Given the description of an element on the screen output the (x, y) to click on. 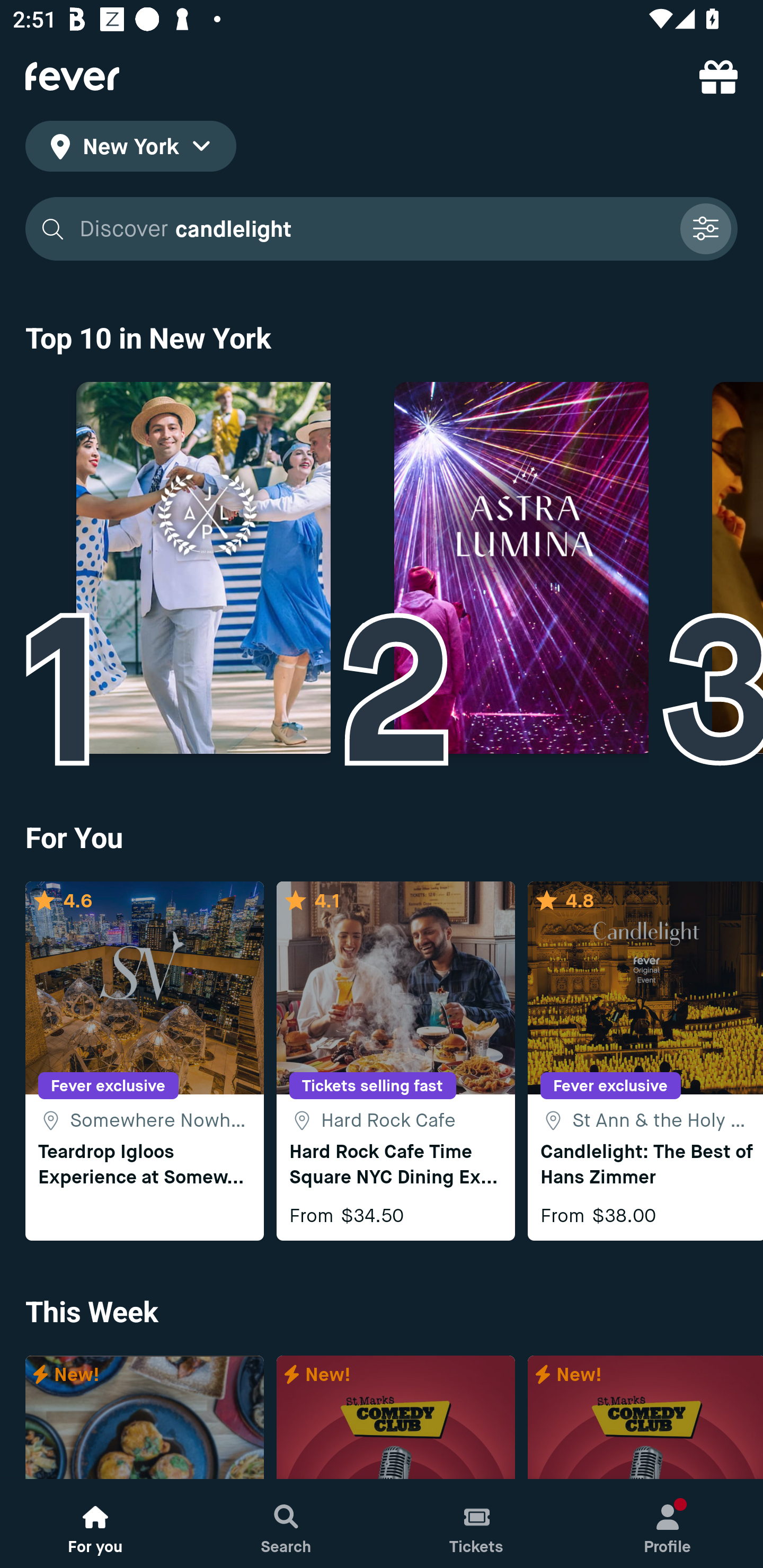
referral (718, 75)
location icon New York location icon (130, 149)
Discover candlelight (381, 228)
Discover candlelight (373, 228)
cover image New! label New! (144, 1417)
cover image New! label New! Fever exclusive (395, 1417)
cover image New! label New! Fever exclusive (645, 1417)
Search (285, 1523)
Tickets (476, 1523)
Profile, New notification Profile (667, 1523)
